Given the description of an element on the screen output the (x, y) to click on. 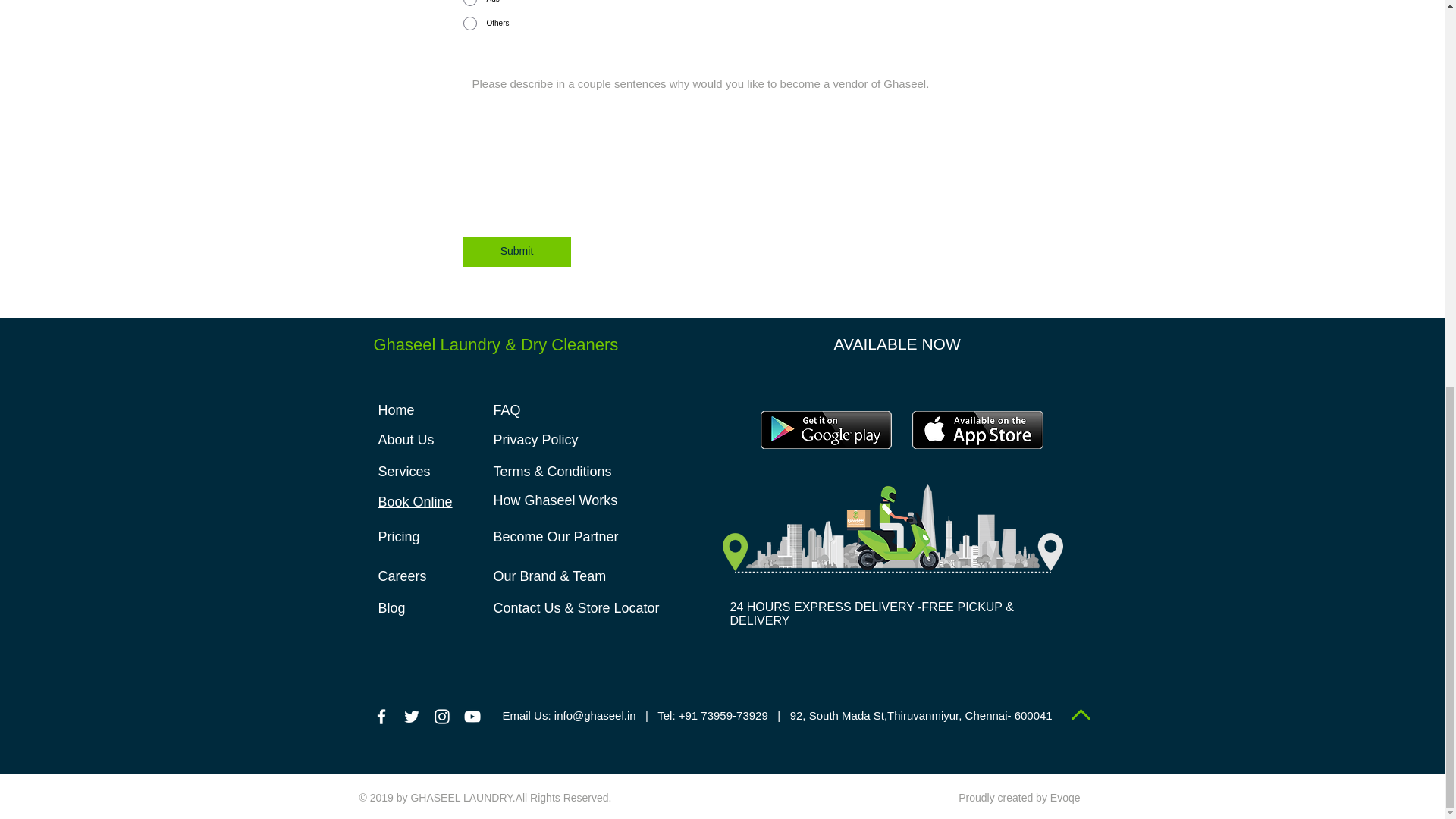
Privacy Policy (535, 439)
 Email Us:  (526, 715)
About Us (405, 439)
FAQ (506, 409)
Pricing (398, 536)
How Ghaseel Works (555, 500)
BIKE LOHOG.png (892, 528)
app-store.png (976, 429)
Blog (390, 607)
Home (395, 409)
